Given the description of an element on the screen output the (x, y) to click on. 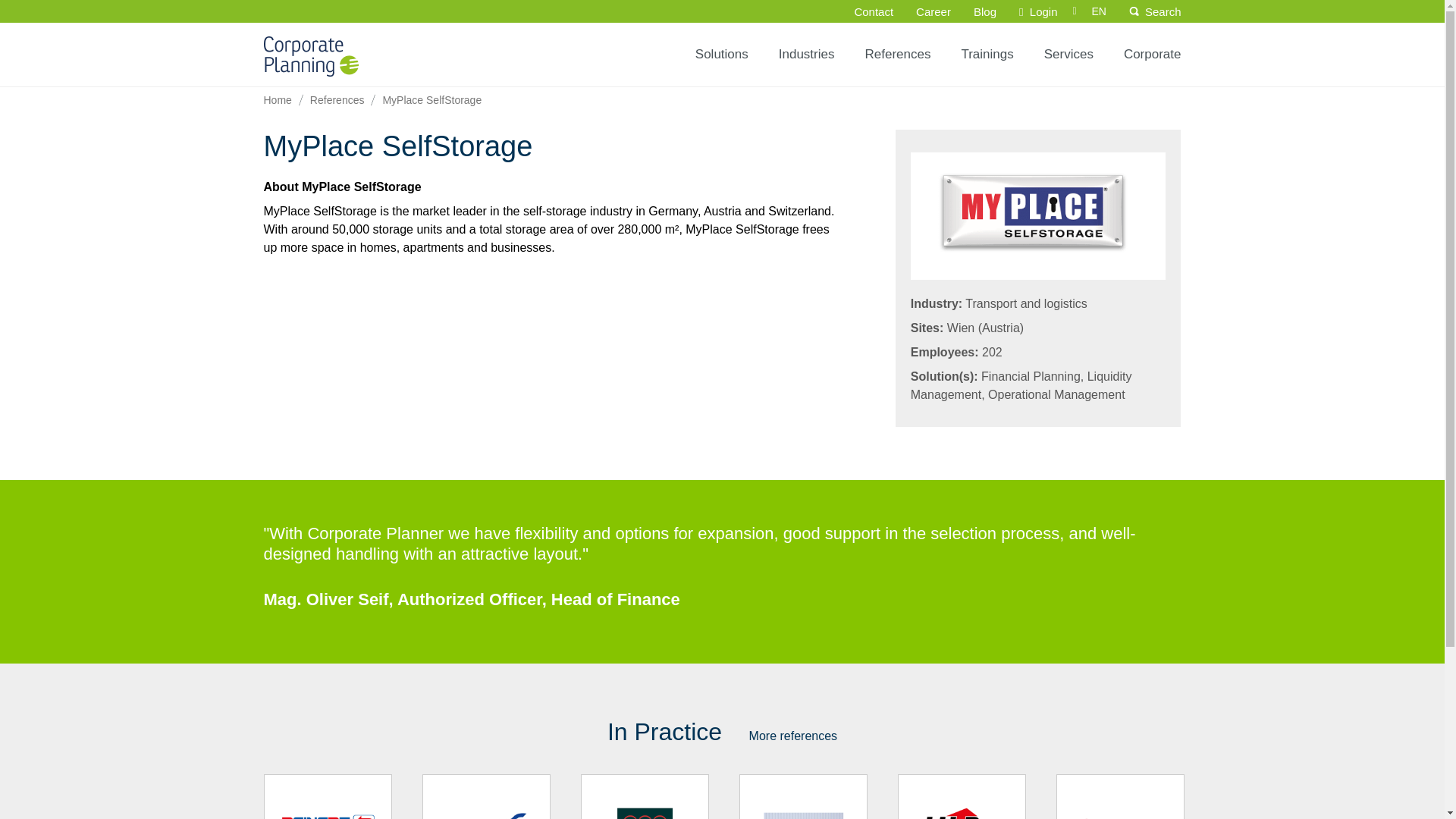
Solutions (720, 53)
Search (1157, 11)
  Login (1037, 12)
Contact (873, 11)
References (896, 53)
Corporate (1152, 53)
Services (1068, 53)
Career (933, 11)
Industries (806, 53)
Blog (984, 11)
Trainings (985, 53)
